Given the description of an element on the screen output the (x, y) to click on. 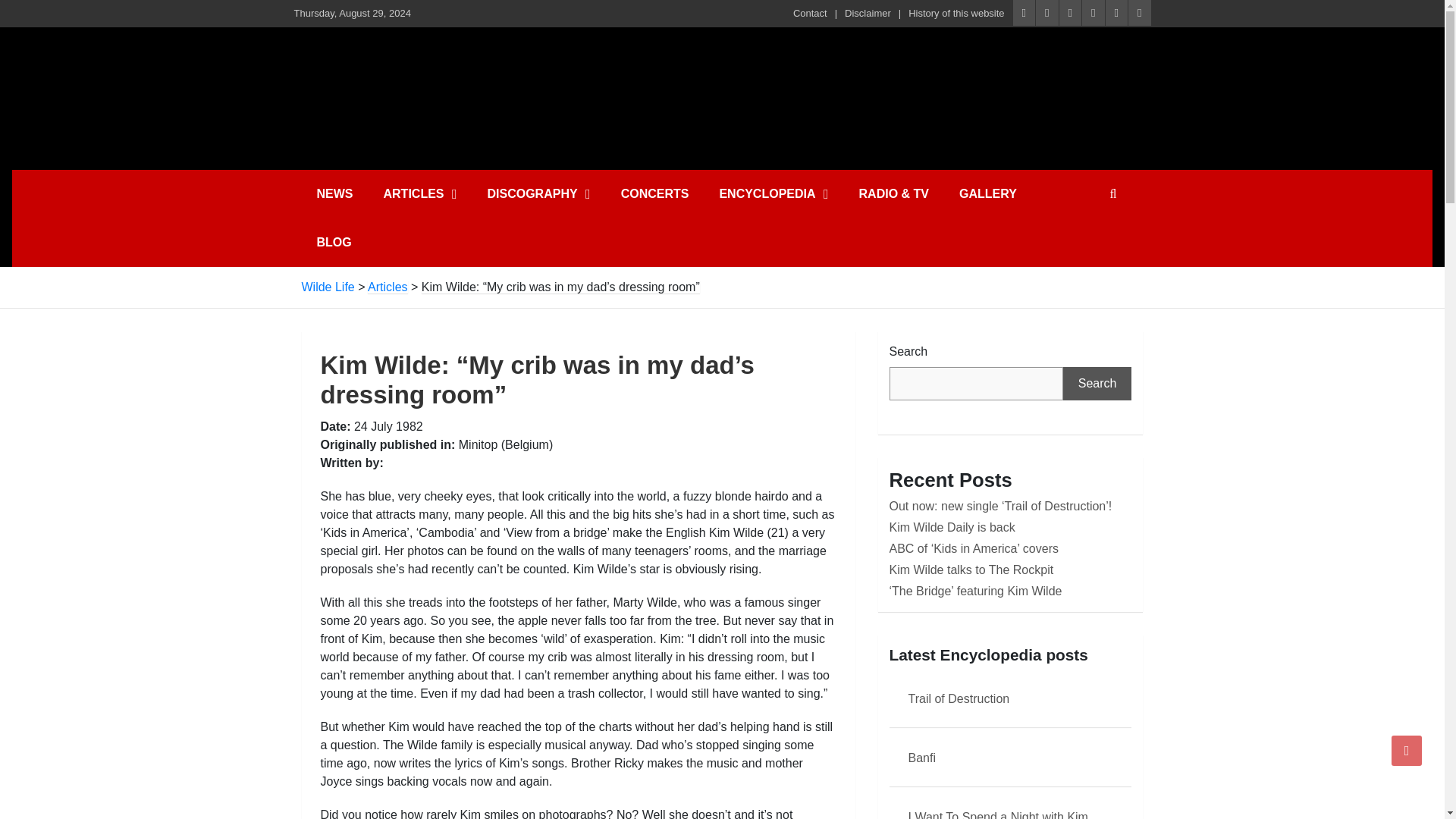
Go to Articles. (387, 286)
Contact (810, 13)
ARTICLES (419, 193)
NEWS (334, 193)
DISCOGRAPHY (538, 193)
History of this website (956, 13)
CONCERTS (654, 193)
ENCYCLOPEDIA (773, 193)
Disclaimer (867, 13)
Go to Top (1406, 750)
